Given the description of an element on the screen output the (x, y) to click on. 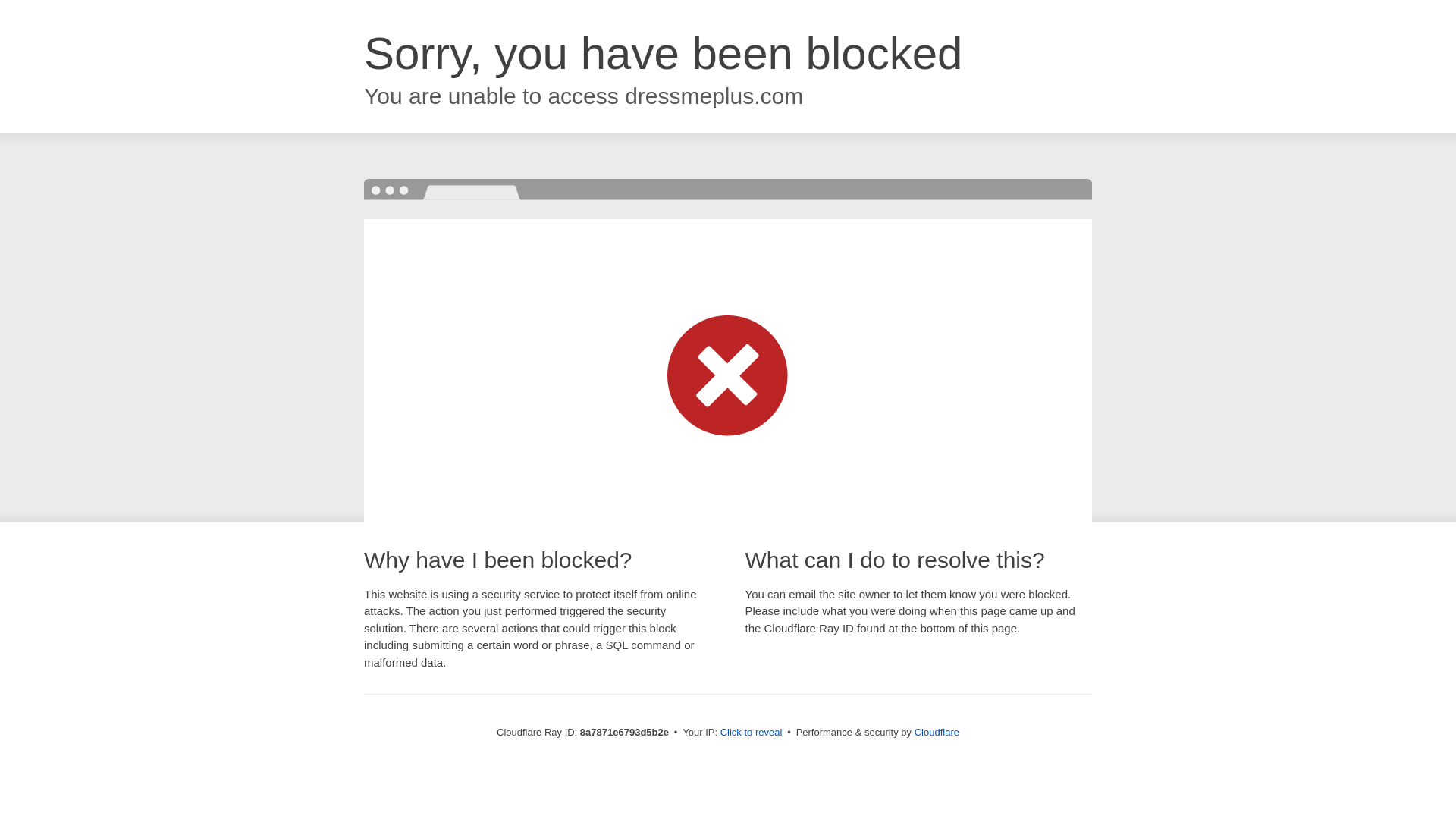
Click to reveal (751, 732)
Cloudflare (936, 731)
